Given the description of an element on the screen output the (x, y) to click on. 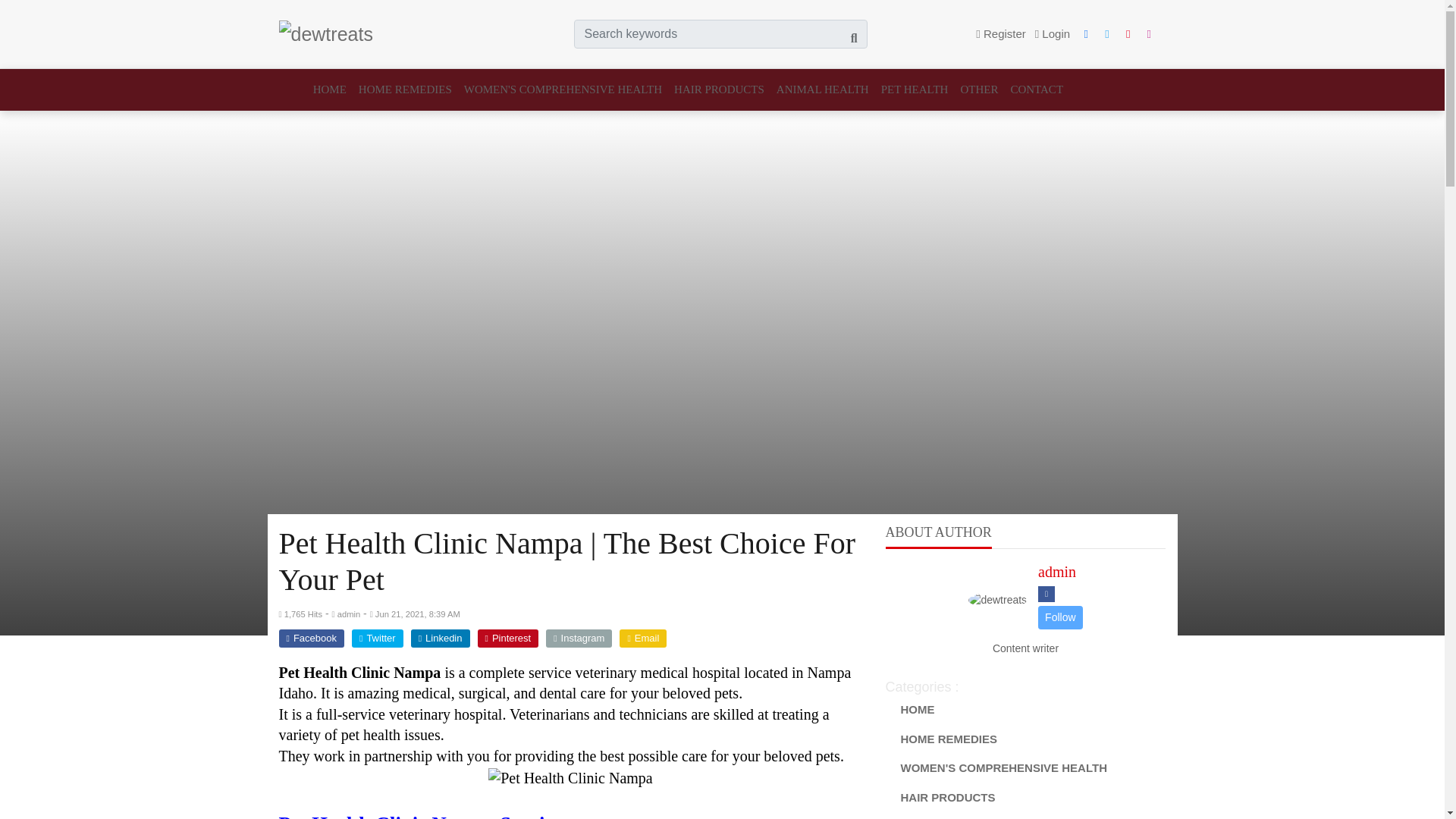
PET HEALTH (915, 89)
Pet Health Clinic Nampa (569, 778)
Login (1052, 34)
HOME REMEDIES (405, 89)
Register (1000, 34)
Facebook (311, 638)
OTHER (978, 89)
Pinterest (507, 638)
HOME (332, 89)
ANIMAL HEALTH (822, 89)
HAIR PRODUCTS (719, 89)
Instagram (578, 638)
Twitter (377, 638)
Follow (1059, 616)
Linkedin (440, 638)
